Given the description of an element on the screen output the (x, y) to click on. 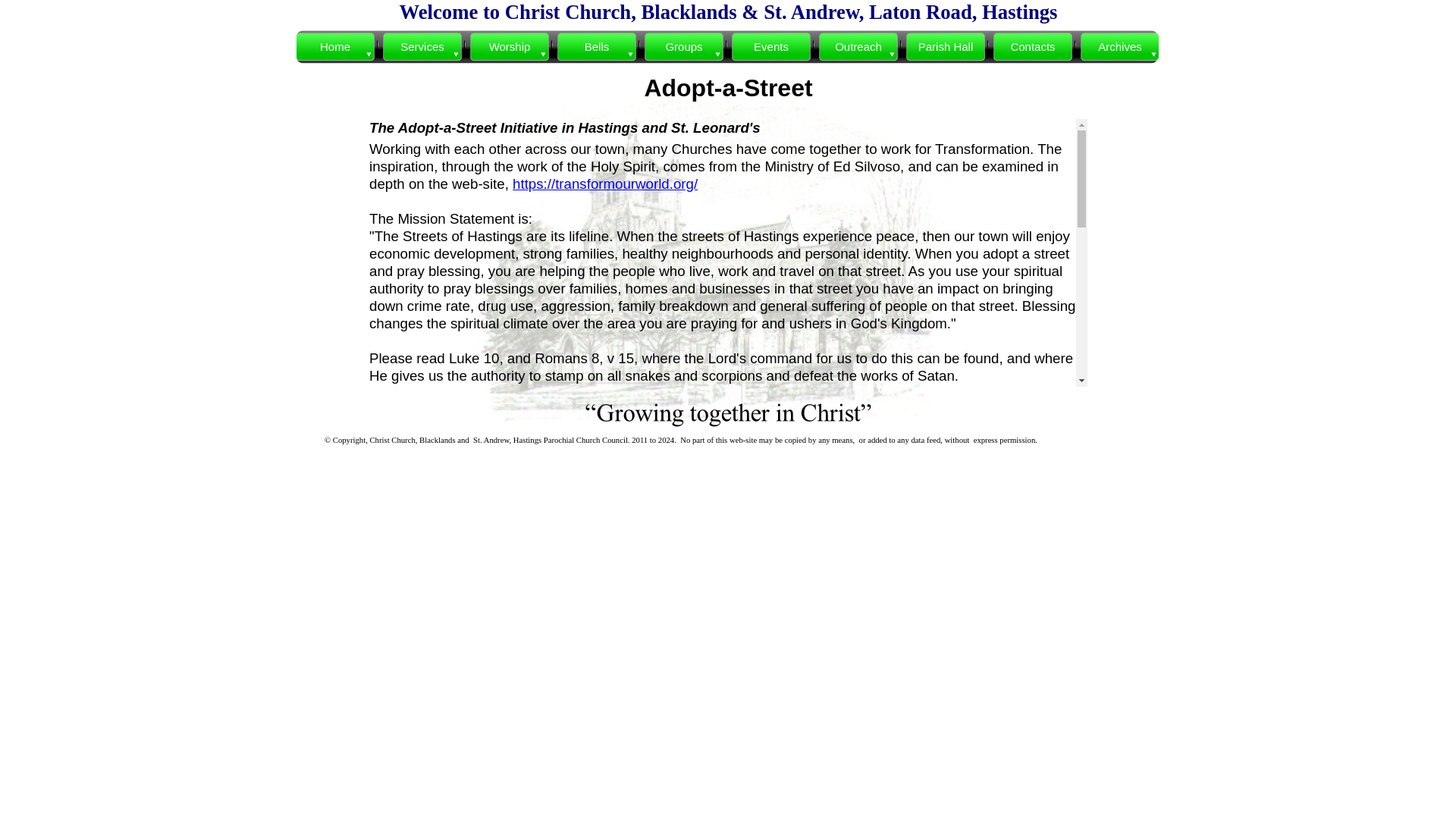
Outreach (858, 46)
Bells (597, 46)
Parish Hall (945, 46)
Groups (684, 46)
Services (422, 46)
Archives (1120, 46)
Home (335, 46)
Past Newsletters for up to the last twelve months (1120, 46)
Worship (510, 46)
Contacts (1032, 46)
